Given the description of an element on the screen output the (x, y) to click on. 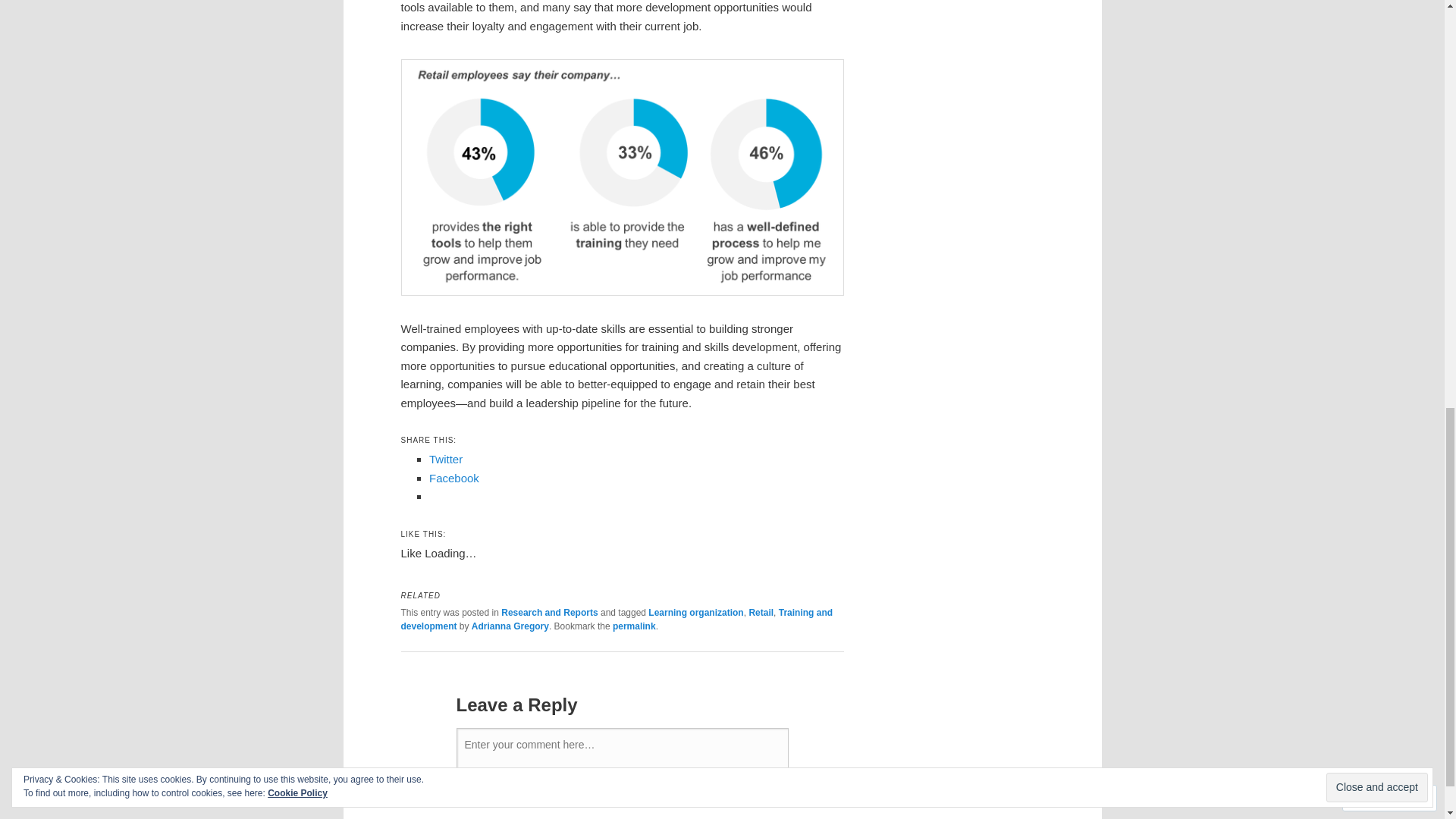
Click to share on Facebook (454, 477)
Click to share on Twitter (446, 459)
Enter your comment here... (621, 751)
Research and Reports (548, 612)
Adrianna Gregory (509, 625)
Learning organization (694, 612)
Facebook (454, 477)
Retail (760, 612)
Twitter (446, 459)
permalink (634, 625)
Training and development (616, 619)
